Given the description of an element on the screen output the (x, y) to click on. 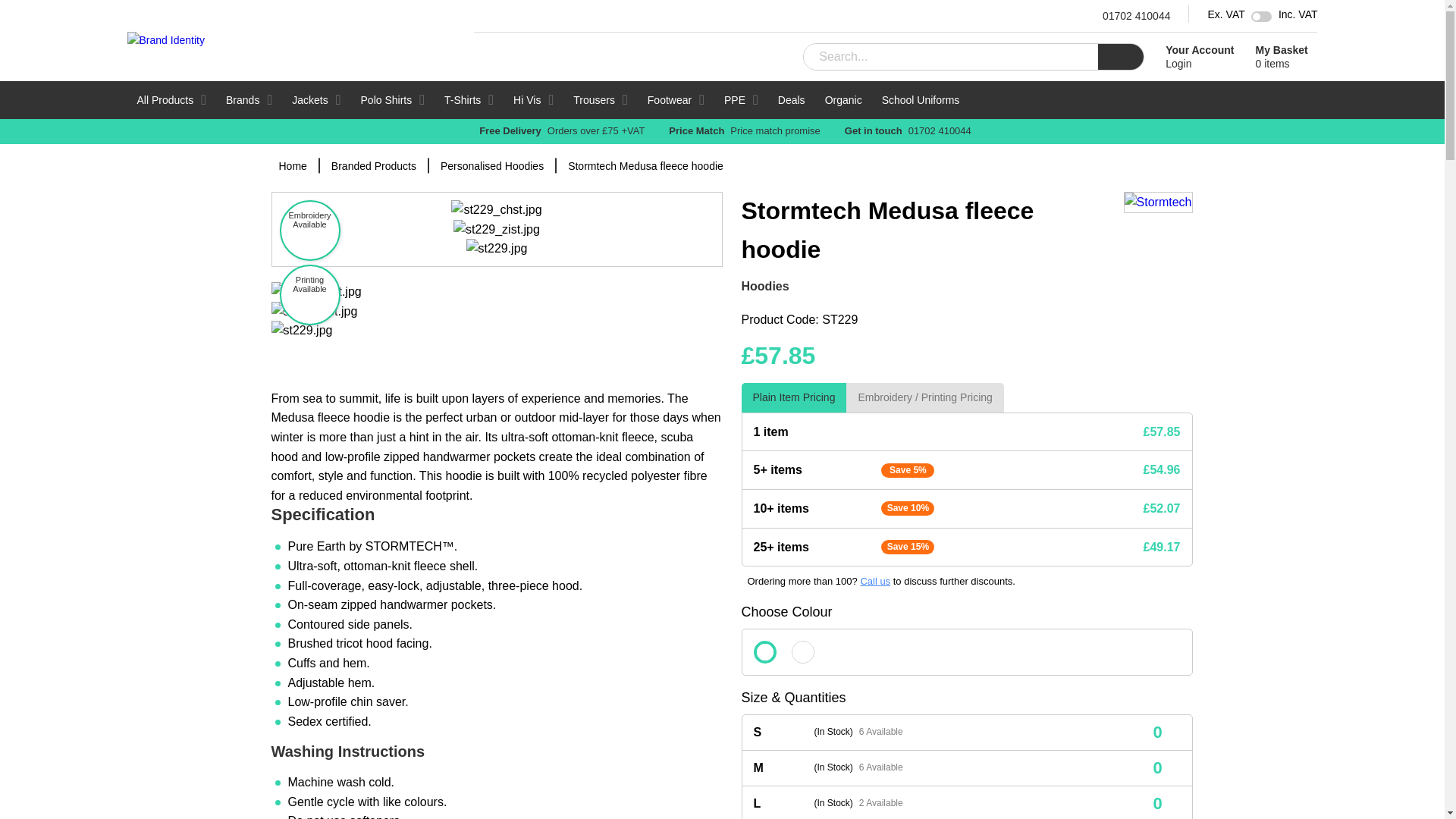
01702 410044 (1133, 15)
0 (1157, 732)
0 (1157, 768)
All Products (1195, 56)
0 (172, 99)
